Given the description of an element on the screen output the (x, y) to click on. 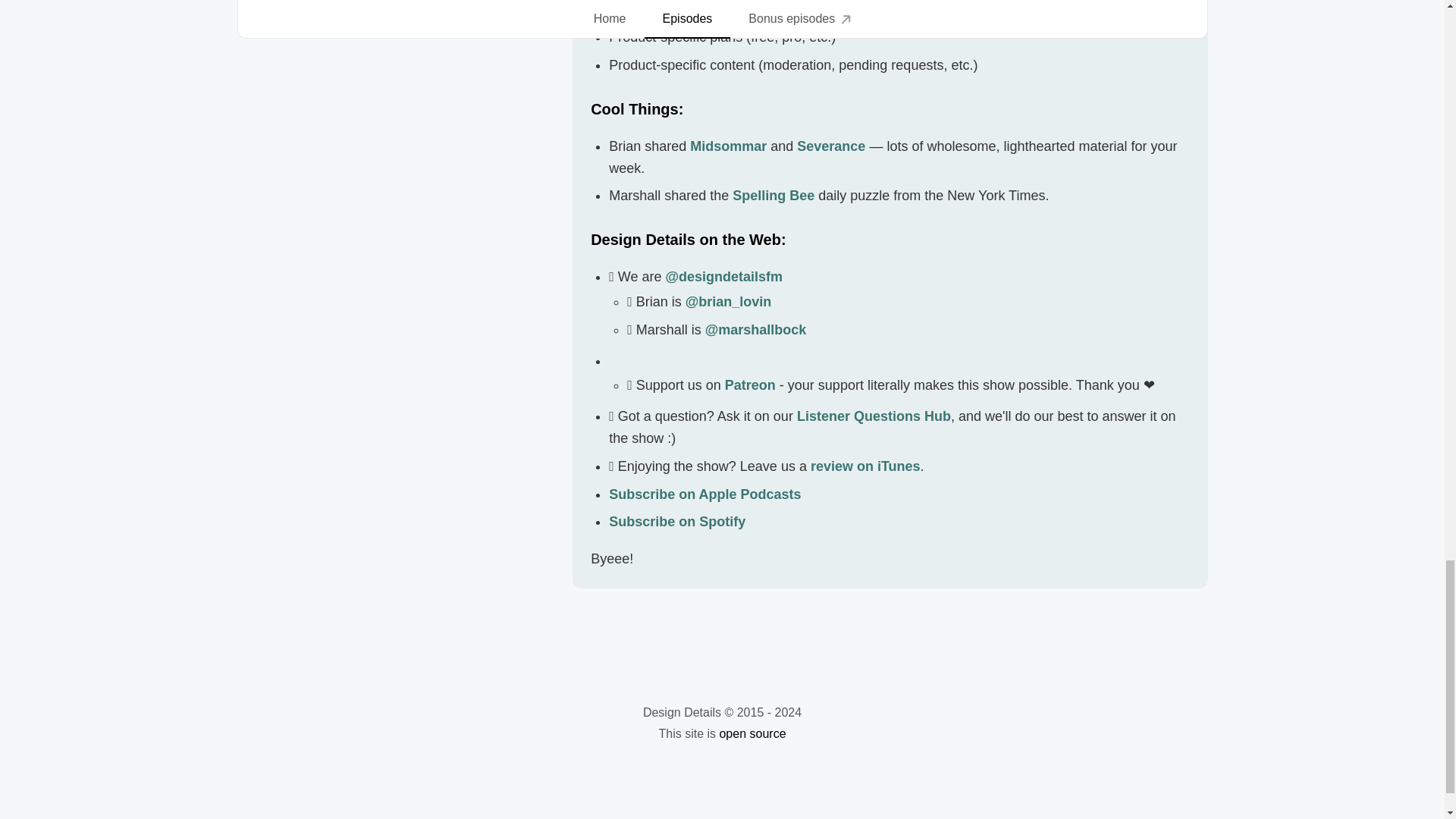
Patreon (750, 385)
Listener Questions Hub (873, 416)
open source (752, 733)
Subscribe on Apple Podcasts (704, 494)
review on iTunes (865, 466)
Severance (830, 145)
Subscribe on Spotify (676, 521)
Midsommar (728, 145)
Spelling Bee (772, 195)
